Given the description of an element on the screen output the (x, y) to click on. 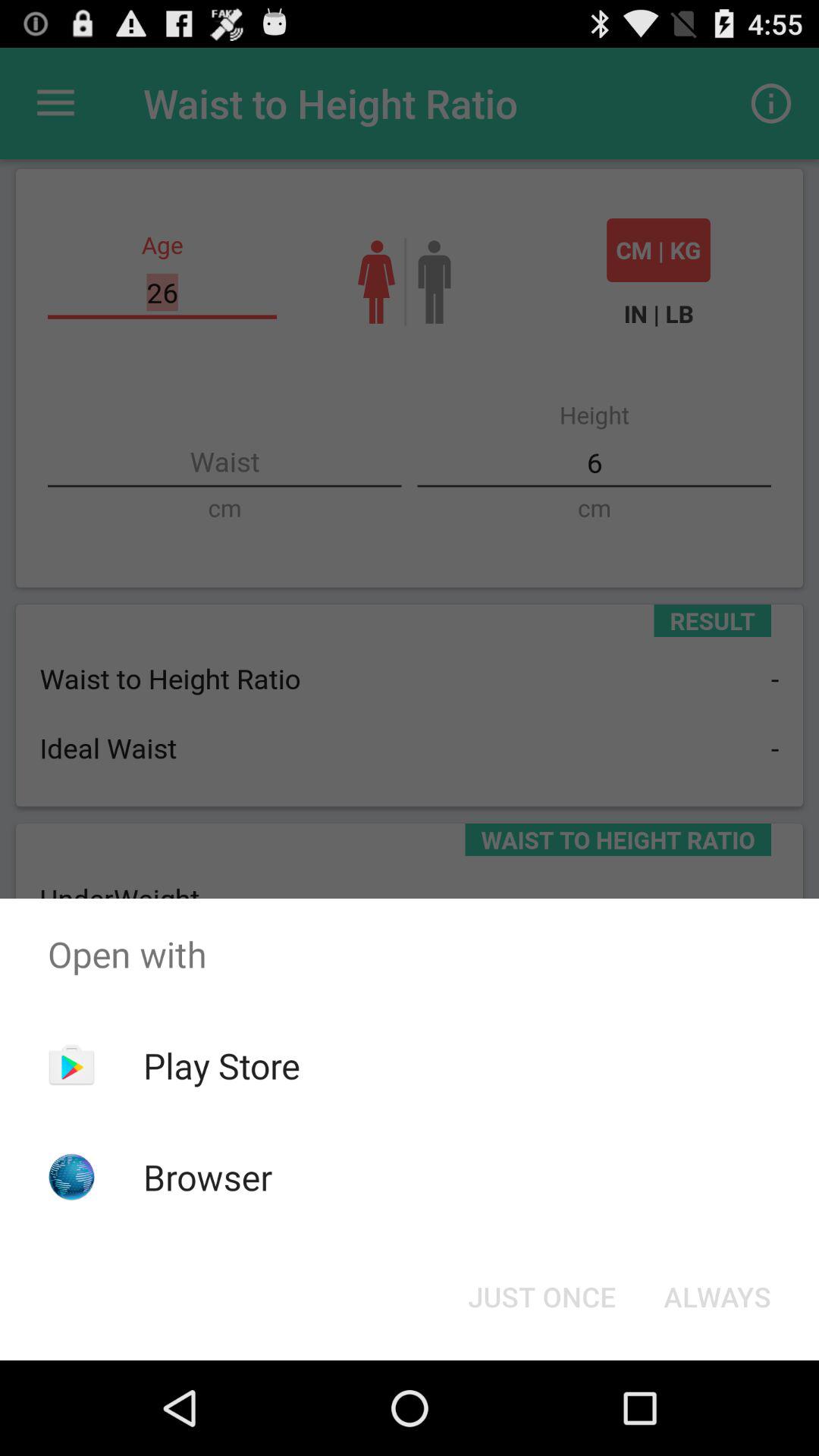
turn off the app below the open with icon (717, 1296)
